Given the description of an element on the screen output the (x, y) to click on. 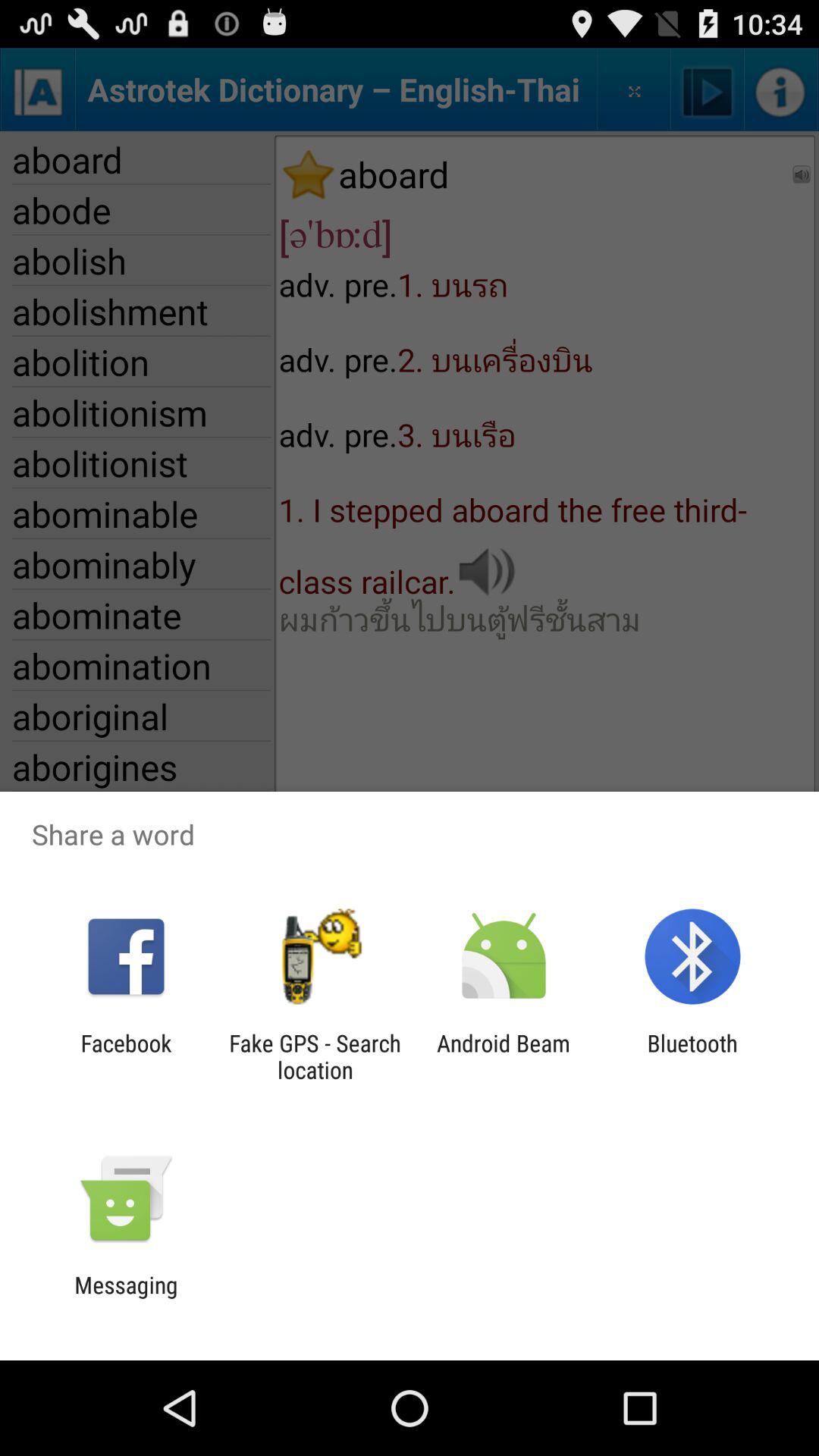
press the bluetooth item (692, 1056)
